Given the description of an element on the screen output the (x, y) to click on. 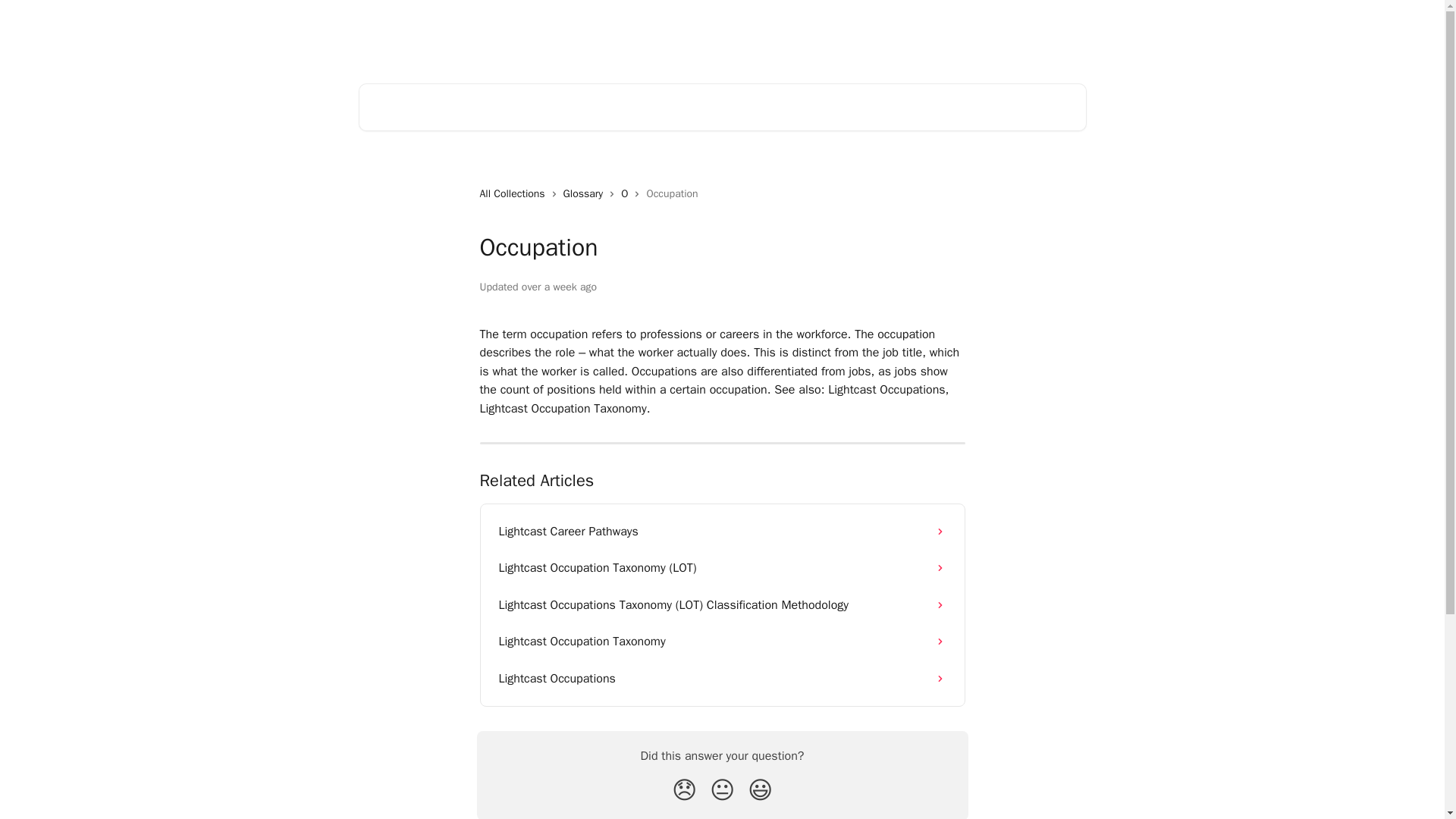
Lightcast Occupations (722, 678)
Changelog (859, 32)
All Collections (514, 193)
Lightcast Occupation Taxonomy (722, 641)
Lightcast Career Pathways (722, 531)
Glossary (586, 193)
Blog (806, 32)
